Given the description of an element on the screen output the (x, y) to click on. 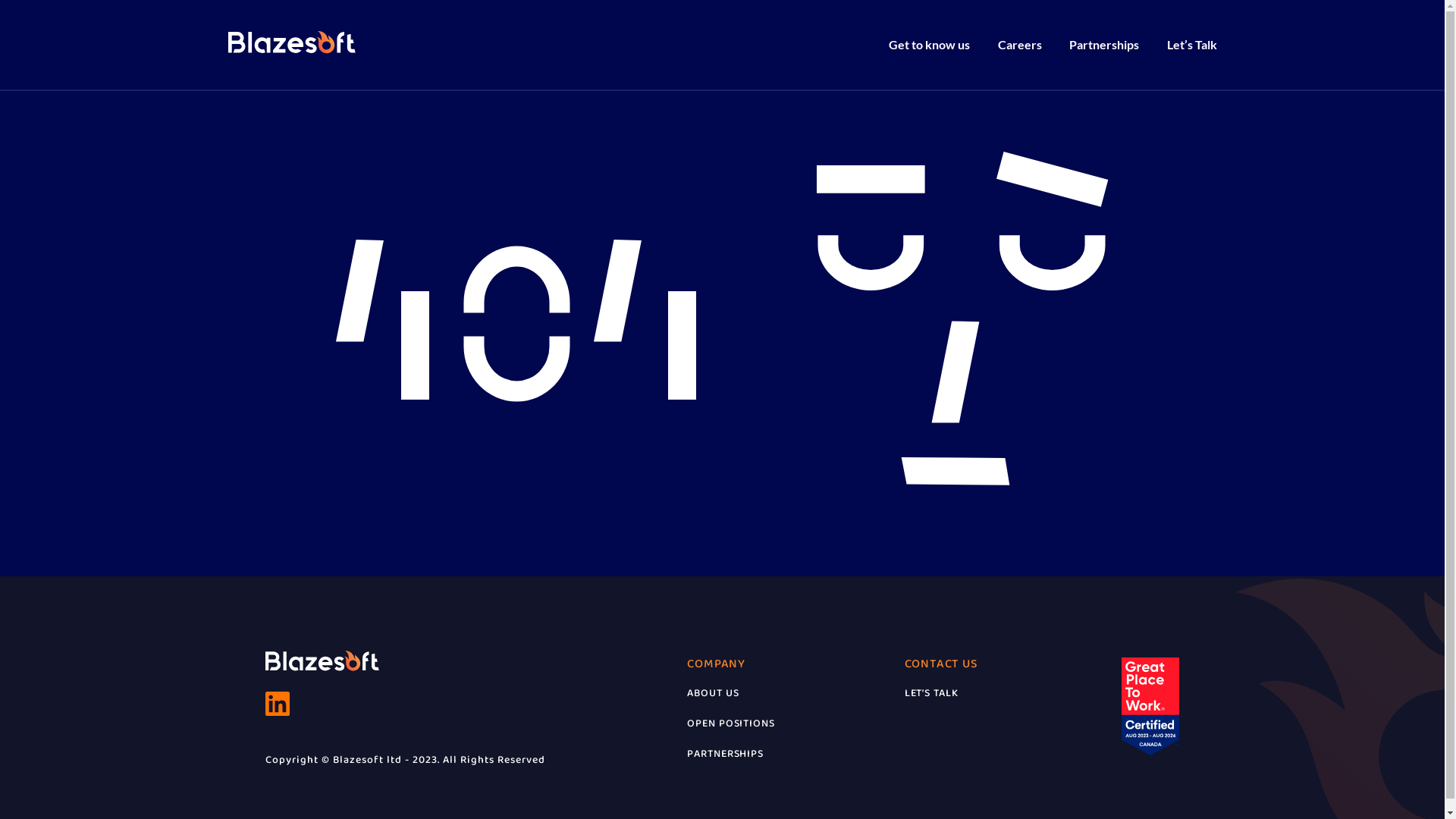
ABOUT US Element type: text (712, 692)
Get to know us Element type: text (928, 43)
OPEN POSITIONS Element type: text (730, 723)
Partnerships Element type: text (1104, 43)
Careers Element type: text (1019, 43)
PARTNERSHIPS Element type: text (725, 753)
